Given the description of an element on the screen output the (x, y) to click on. 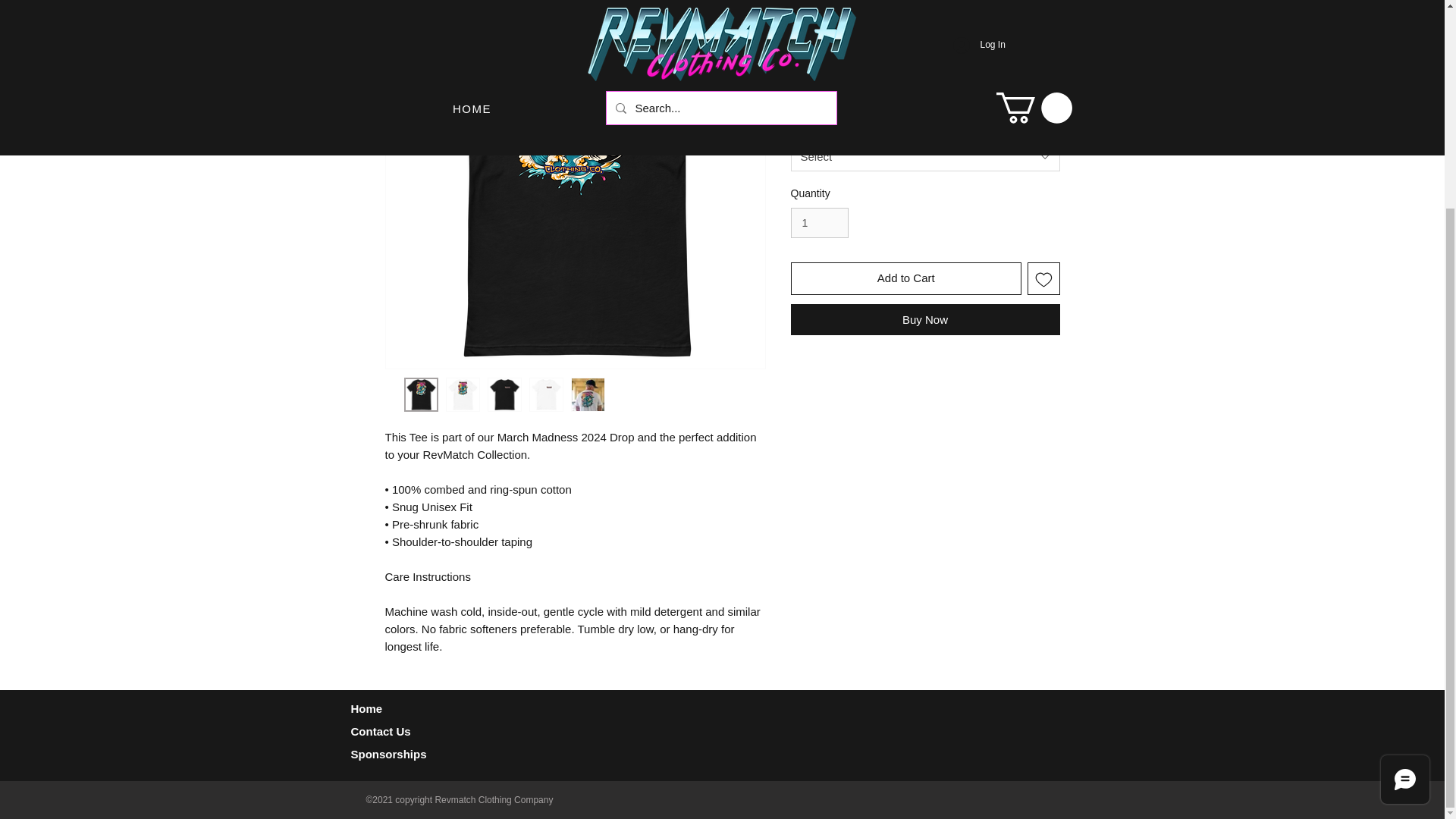
1 (818, 223)
Buy Now (924, 318)
Sponsorships (388, 753)
Home  (367, 707)
Add to Cart (906, 278)
Select (924, 90)
Contact Us (380, 730)
Select (924, 155)
